Given the description of an element on the screen output the (x, y) to click on. 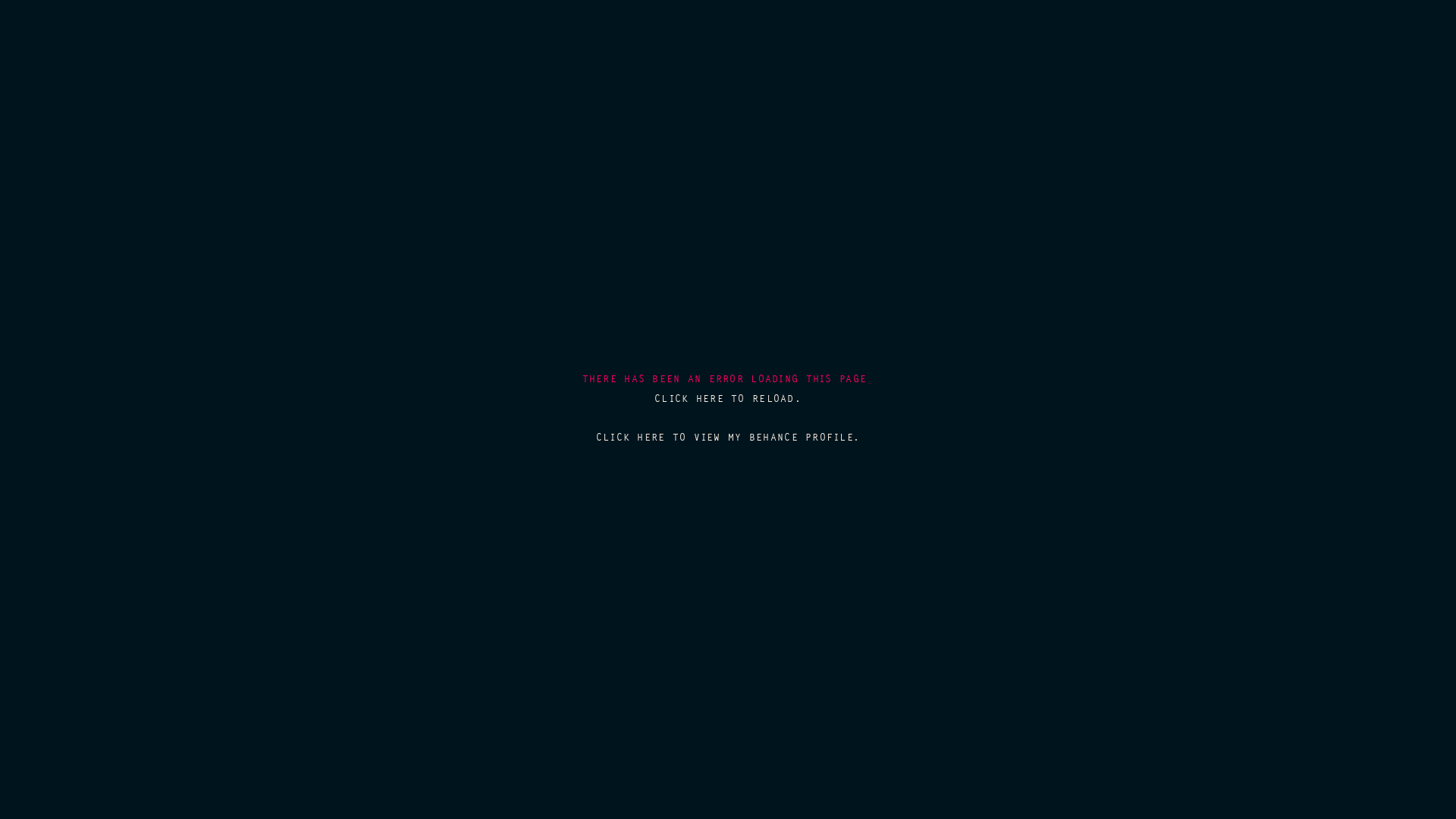
CLICK HERE TO VIEW MY BEHANCE PROFILE. Element type: text (728, 436)
CLICK HERE TO RELOAD. Element type: text (727, 398)
